Given the description of an element on the screen output the (x, y) to click on. 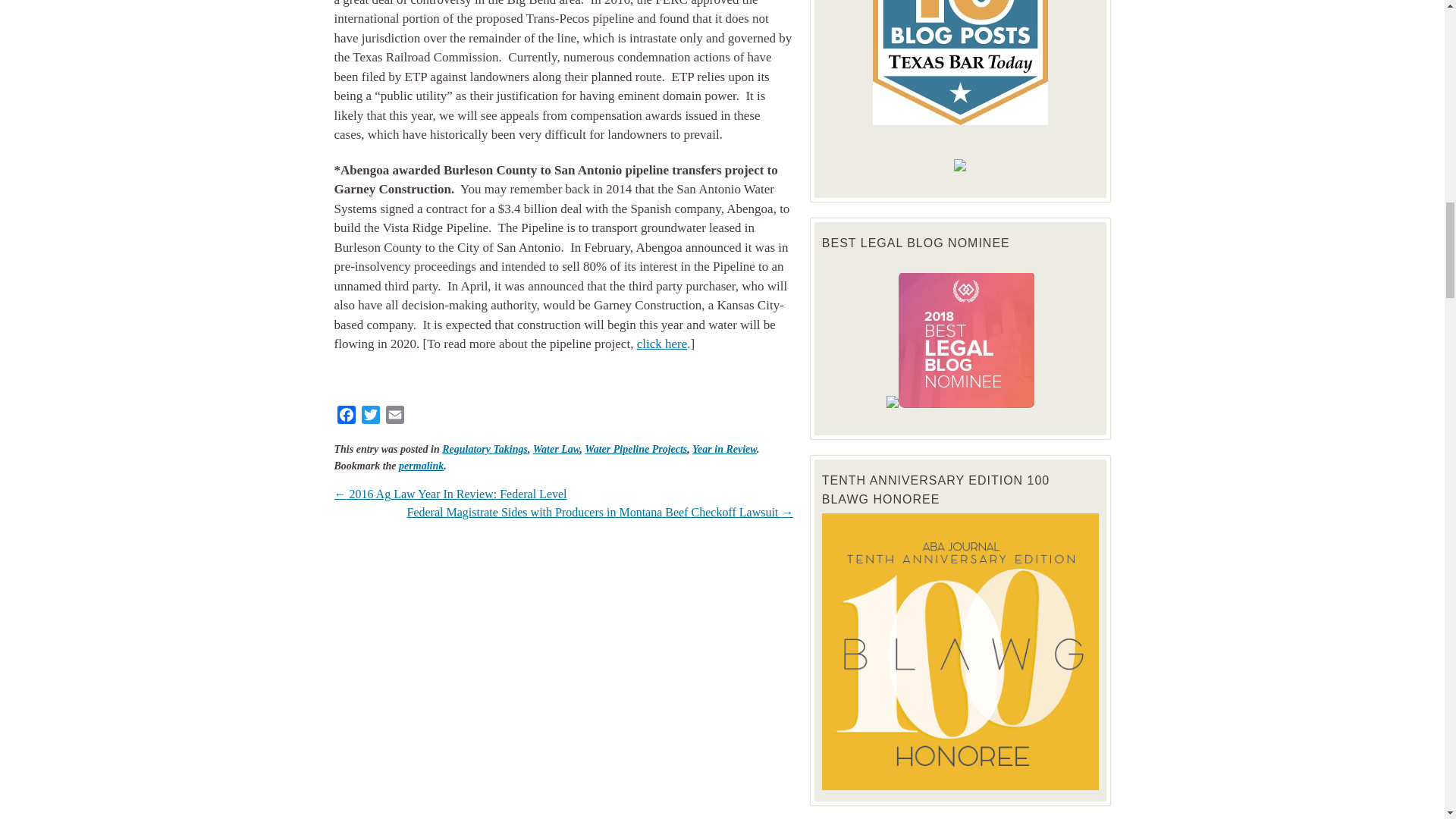
Twitter (369, 417)
Email (393, 417)
Water Law (555, 449)
click here (662, 343)
Email (393, 417)
Year in Review (725, 449)
Permalink to 2016 Ag Law Year in Review:  State Level (421, 465)
Water Pipeline Projects (636, 449)
Twitter (369, 417)
permalink (421, 465)
Facebook (345, 417)
Regulatory Takings (484, 449)
Facebook (345, 417)
